Given the description of an element on the screen output the (x, y) to click on. 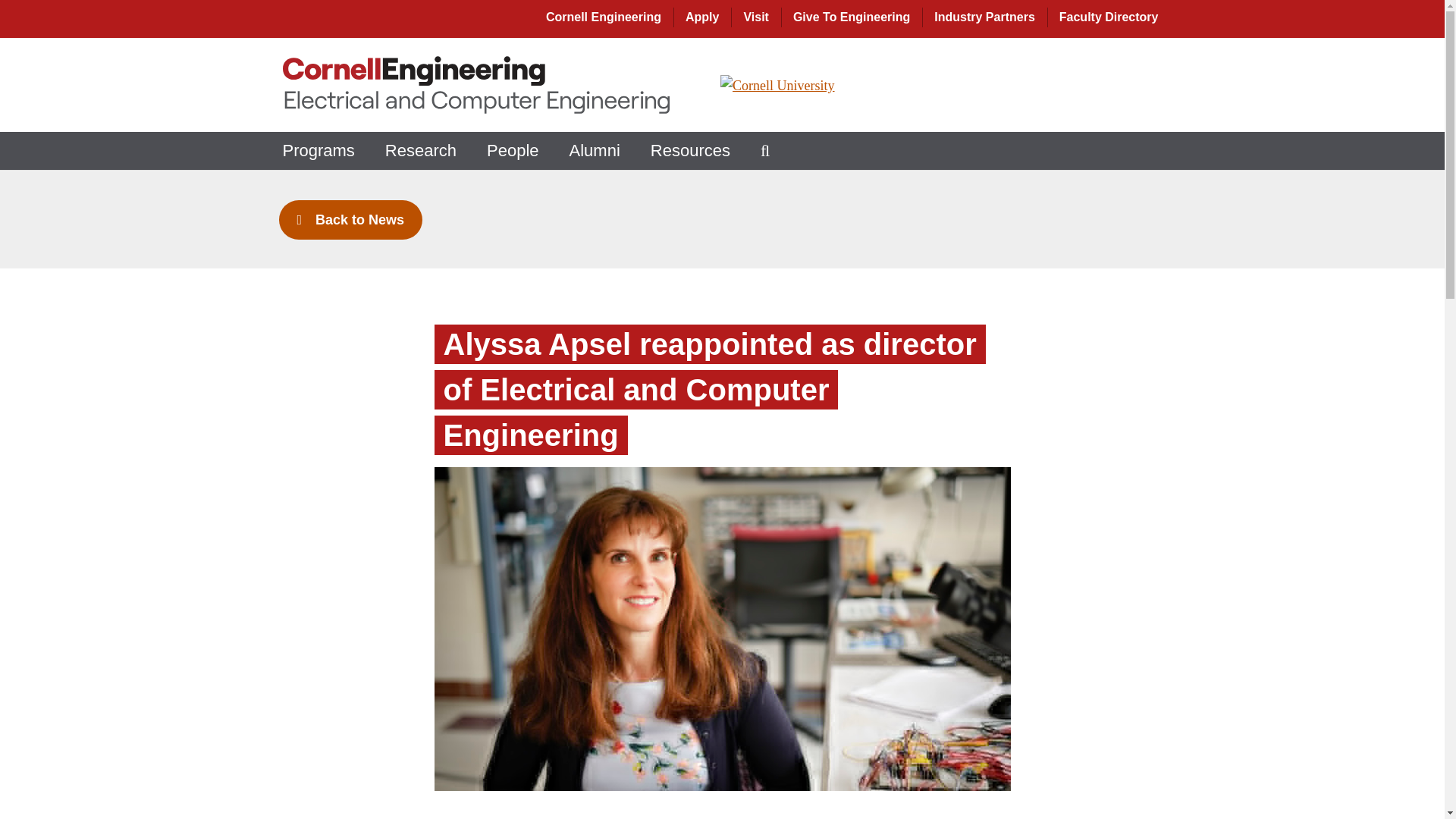
Industry Partners (984, 17)
Alumni (594, 150)
Faculty Directory (1110, 17)
Research (420, 150)
Visit (755, 17)
Apply (702, 17)
Cornell Engineering (603, 17)
People (512, 150)
Resources (689, 150)
Programs (317, 150)
Give To Engineering (851, 17)
